Given the description of an element on the screen output the (x, y) to click on. 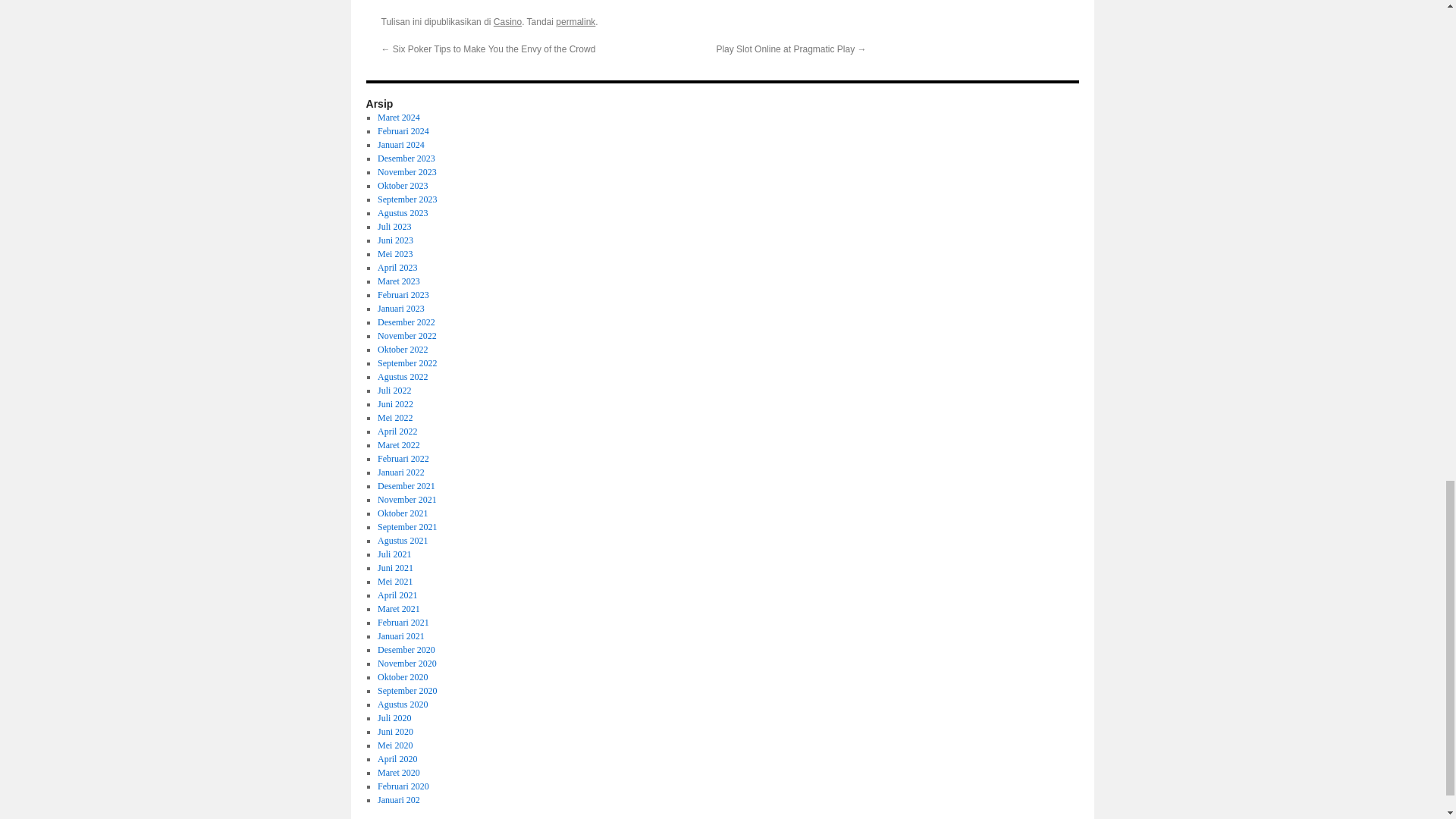
Maret 2024 (398, 117)
April 2023 (396, 267)
Oktober 2023 (402, 185)
Januari 2024 (401, 144)
November 2023 (406, 172)
Juni 2023 (395, 240)
Mei 2023 (394, 253)
Agustus 2023 (402, 213)
permalink (575, 21)
Juli 2023 (393, 226)
Februari 2024 (403, 131)
Februari 2023 (403, 294)
Casino (507, 21)
September 2023 (406, 199)
